Given the description of an element on the screen output the (x, y) to click on. 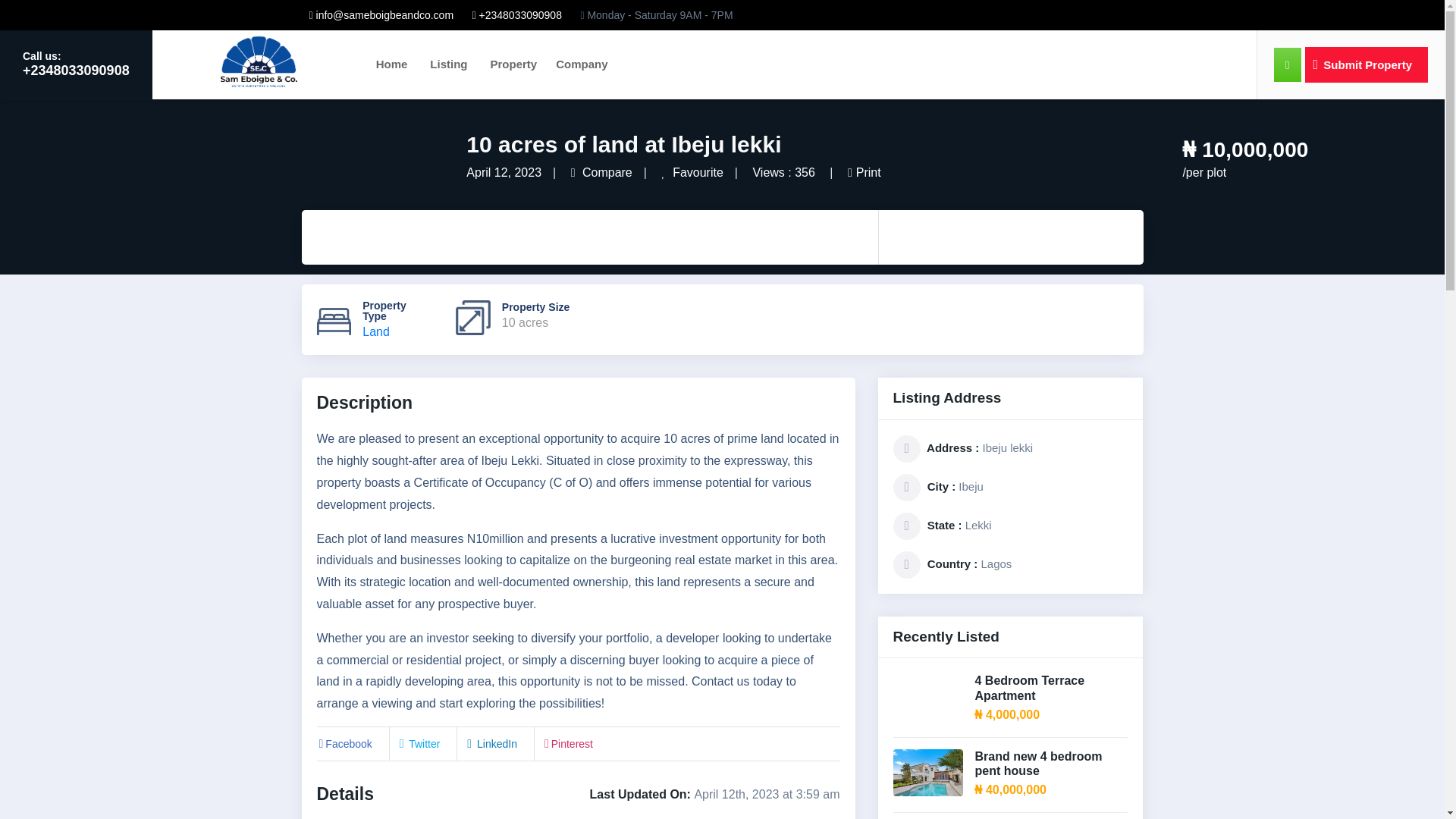
Pinterest (566, 743)
Compare (600, 172)
Facebook (344, 743)
Land (376, 331)
Print (863, 172)
Monday - Saturday 9AM - 7PM (655, 15)
Property (513, 64)
Twitter (419, 743)
LinkedIn (490, 743)
Favourite (691, 172)
